Given the description of an element on the screen output the (x, y) to click on. 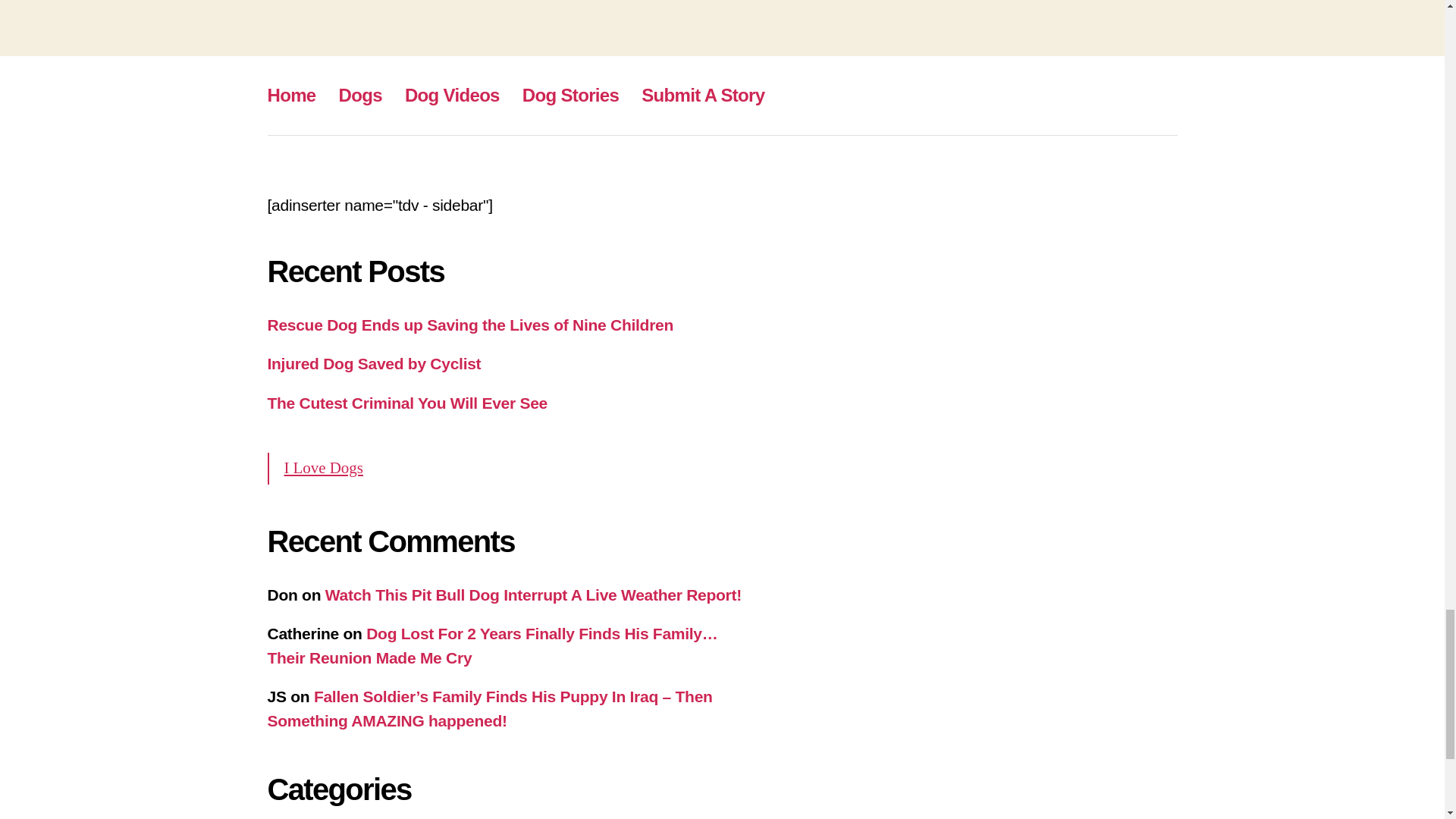
Injured Dog Saved by Cyclist (373, 363)
I Love Dogs (322, 467)
Dogs (360, 95)
Submit A Story (703, 95)
Home (290, 95)
Dog Videos (451, 95)
Dog Stories (570, 95)
The Cutest Criminal You Will Ever See (406, 402)
Rescue Dog Ends up Saving the Lives of Nine Children (469, 324)
